Given the description of an element on the screen output the (x, y) to click on. 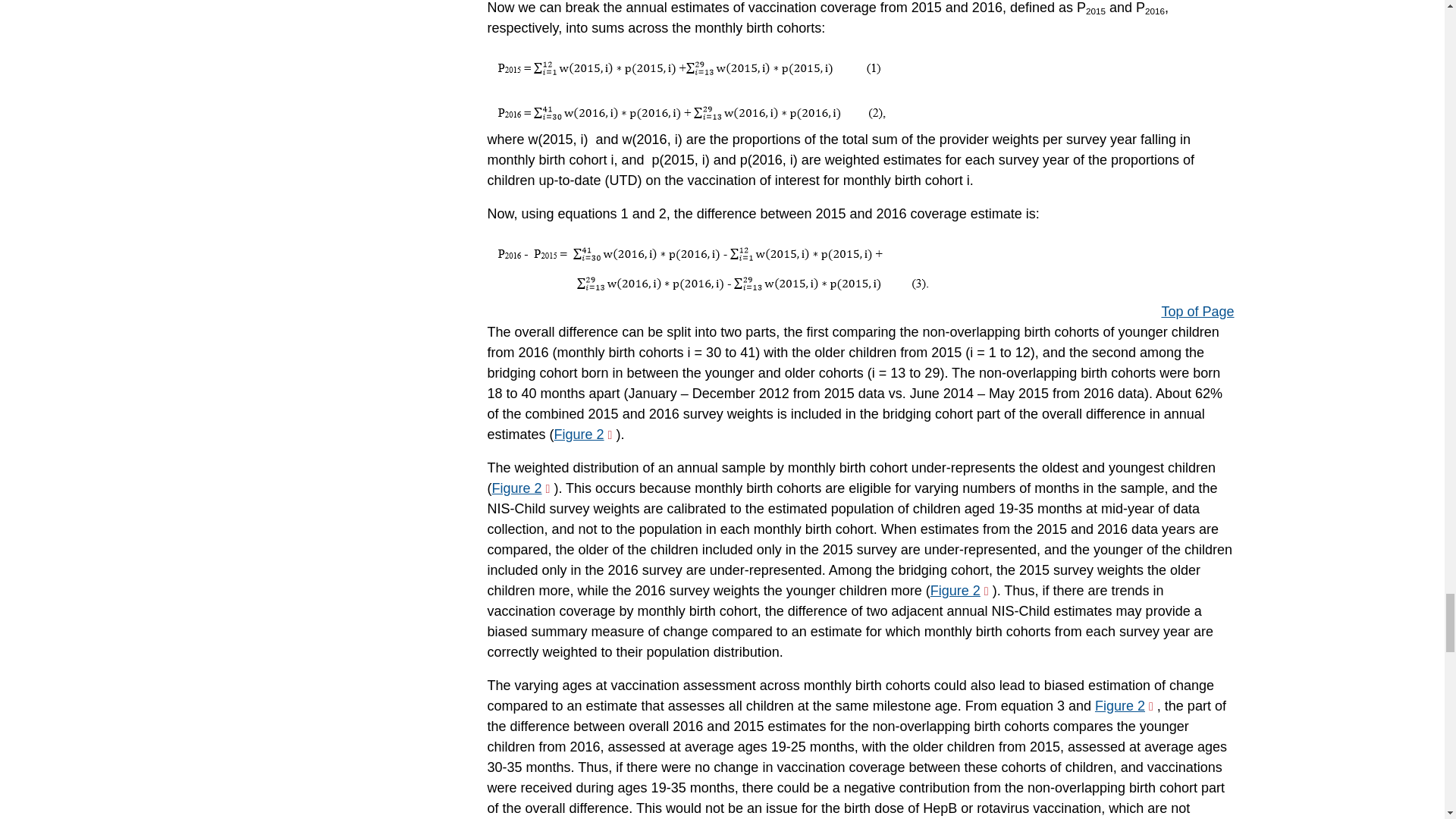
nis-child-report-equation-03 (710, 269)
nis-child-report-equation-02 (688, 113)
nis-child-report-equation-01 (688, 67)
